Given the description of an element on the screen output the (x, y) to click on. 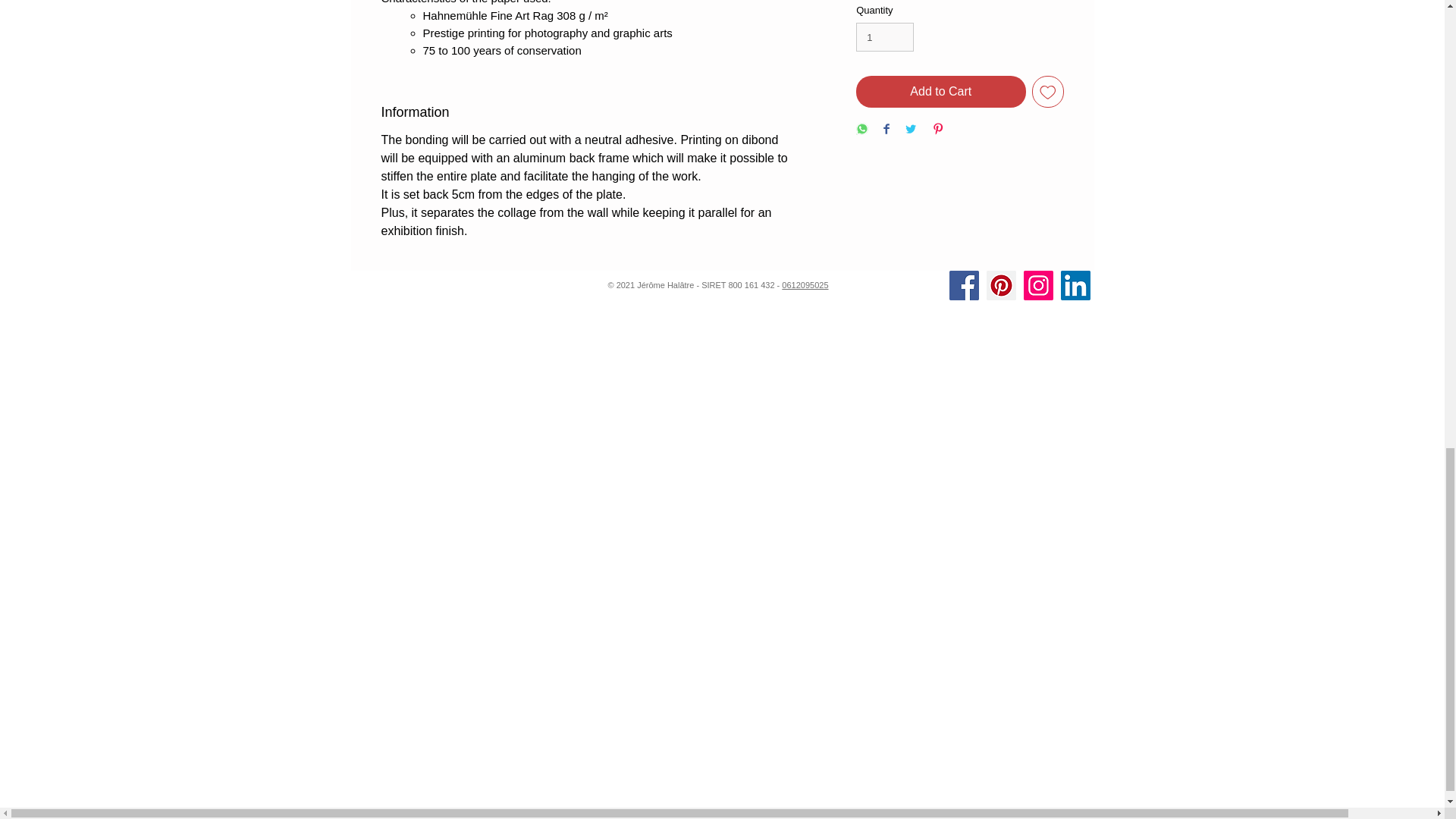
0612095025 (804, 284)
1 (885, 36)
Add to Cart (940, 91)
